Given the description of an element on the screen output the (x, y) to click on. 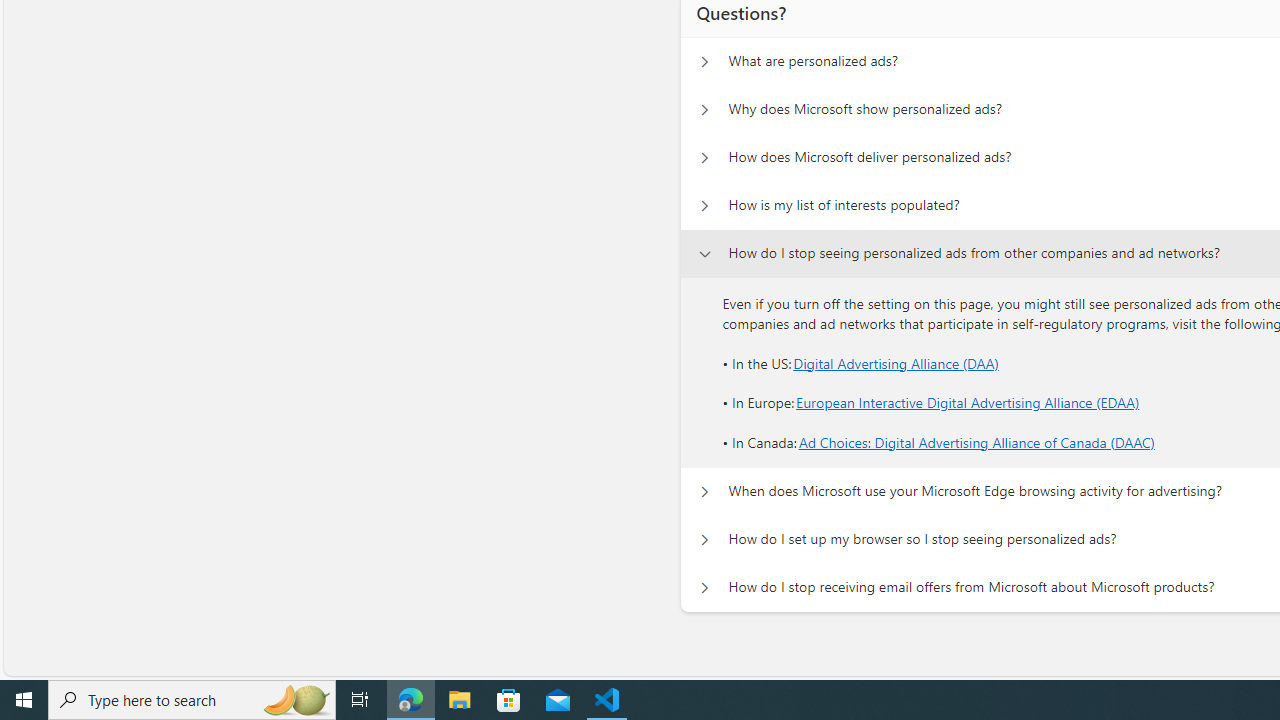
Questions? Why does Microsoft show personalized ads? (704, 110)
Questions? What are personalized ads? (704, 62)
Ad Choices: Digital Advertising Alliance of Canada (DAAC) (975, 442)
European Interactive Digital Advertising Alliance (EDAA) (968, 403)
Digital Advertising Alliance (DAA) (895, 362)
Questions? How is my list of interests populated? (704, 206)
Questions? How does Microsoft deliver personalized ads? (704, 157)
